Given the description of an element on the screen output the (x, y) to click on. 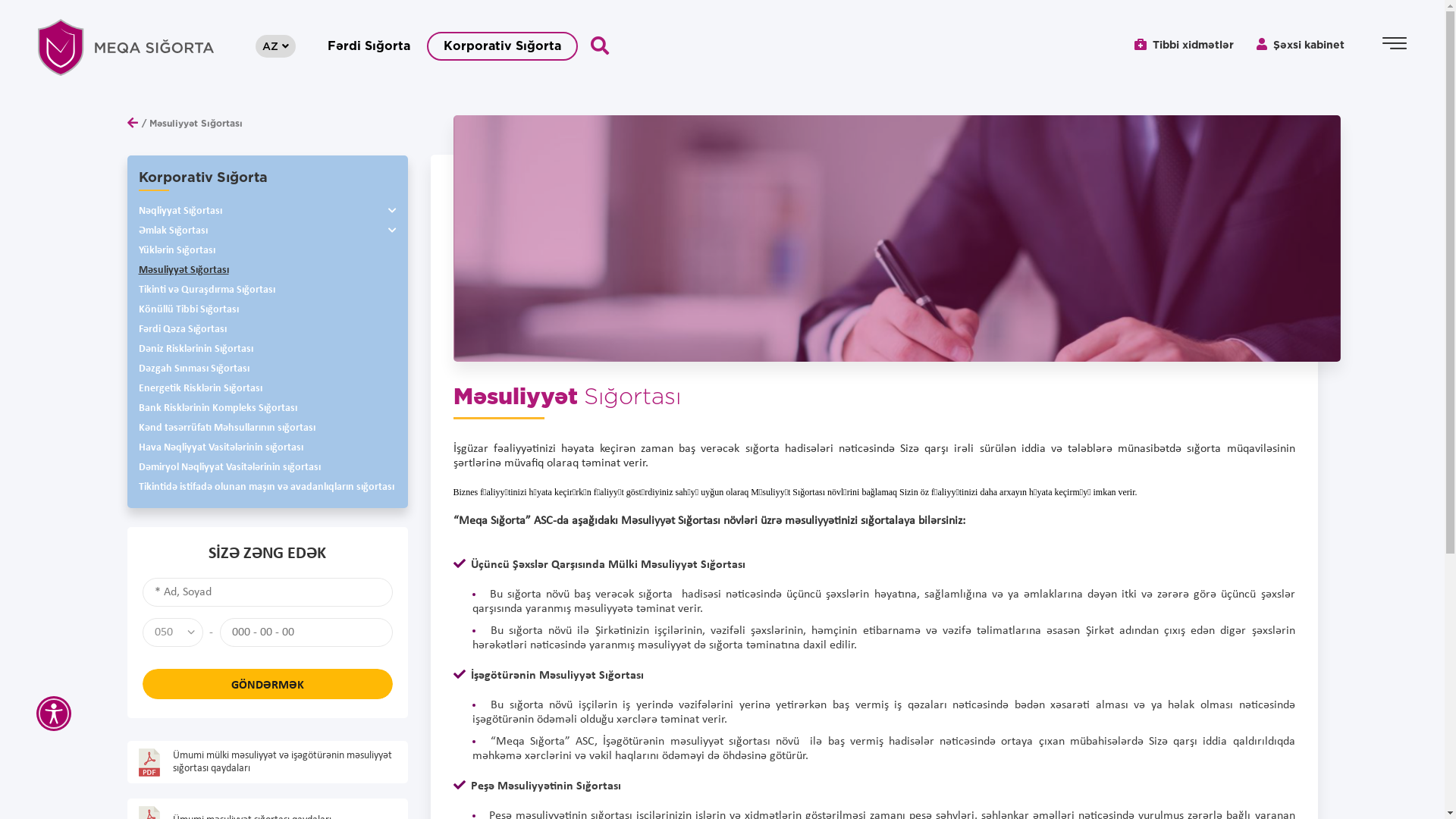
1 Element type: text (36, 394)
1 Element type: text (36, 369)
1 Element type: text (36, 335)
